Given the description of an element on the screen output the (x, y) to click on. 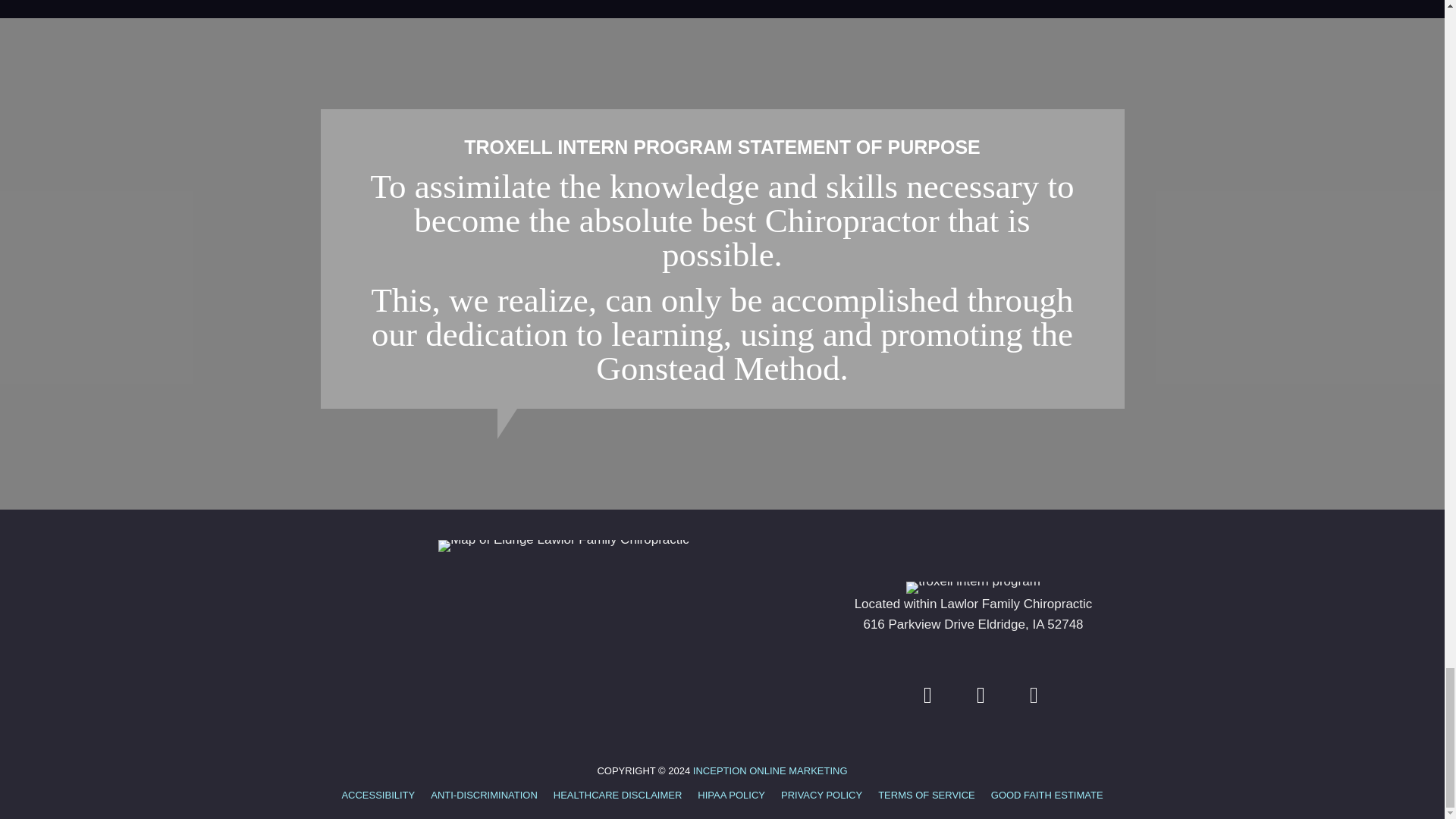
GOOD FAITH ESTIMATE (1047, 795)
ACCESSIBILITY (377, 795)
ANTI-DISCRIMINATION (483, 795)
PRIVACY POLICY (821, 795)
TERMS OF SERVICE (926, 795)
HEALTHCARE DISCLAIMER (618, 795)
INCEPTION ONLINE MARKETING (770, 770)
HIPAA POLICY (731, 795)
